Given the description of an element on the screen output the (x, y) to click on. 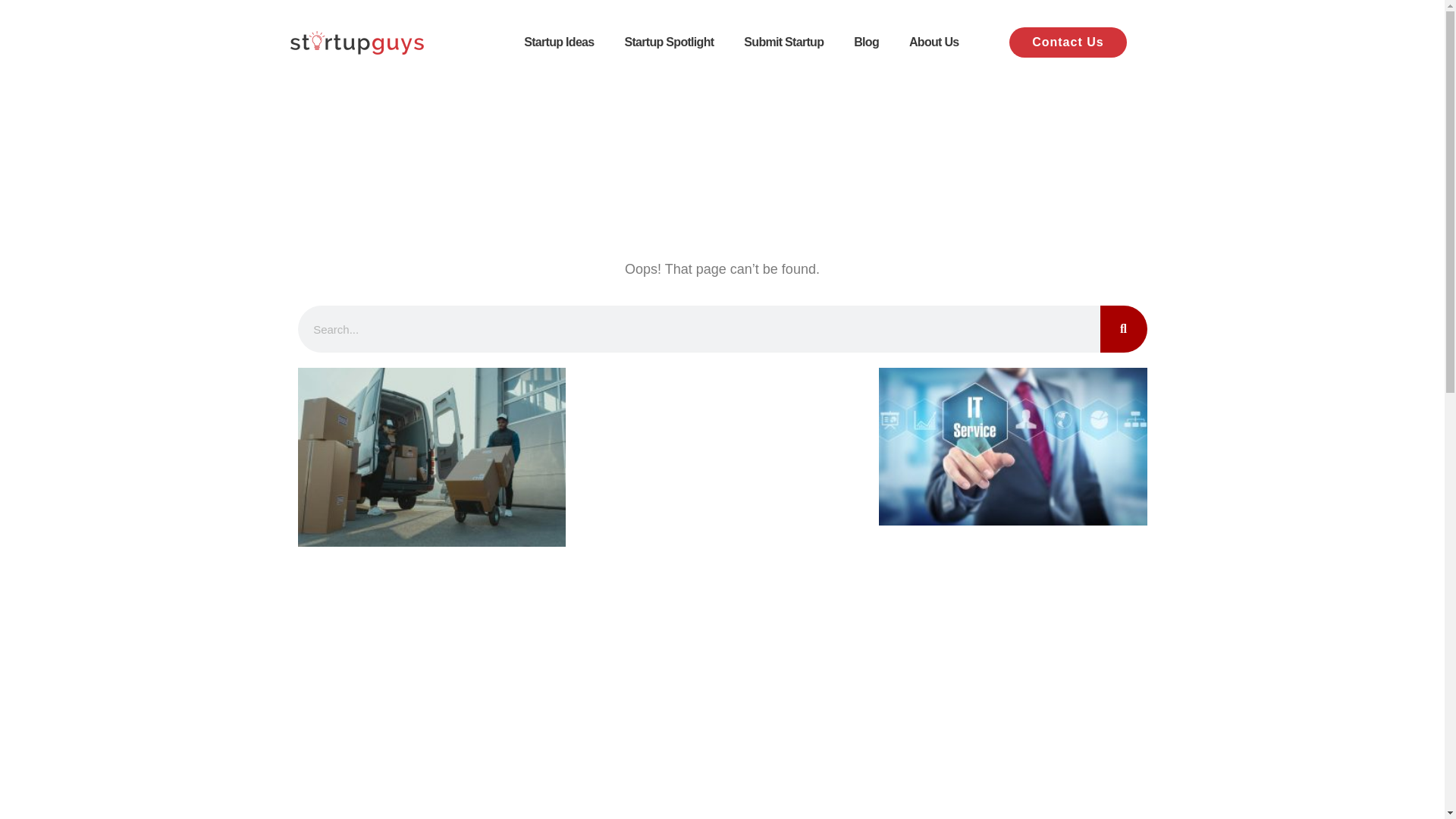
Startup Spotlight (669, 42)
Submit Startup (783, 42)
About Us (933, 42)
Startup Ideas (558, 42)
Blog (865, 42)
Contact Us (1067, 42)
